Given the description of an element on the screen output the (x, y) to click on. 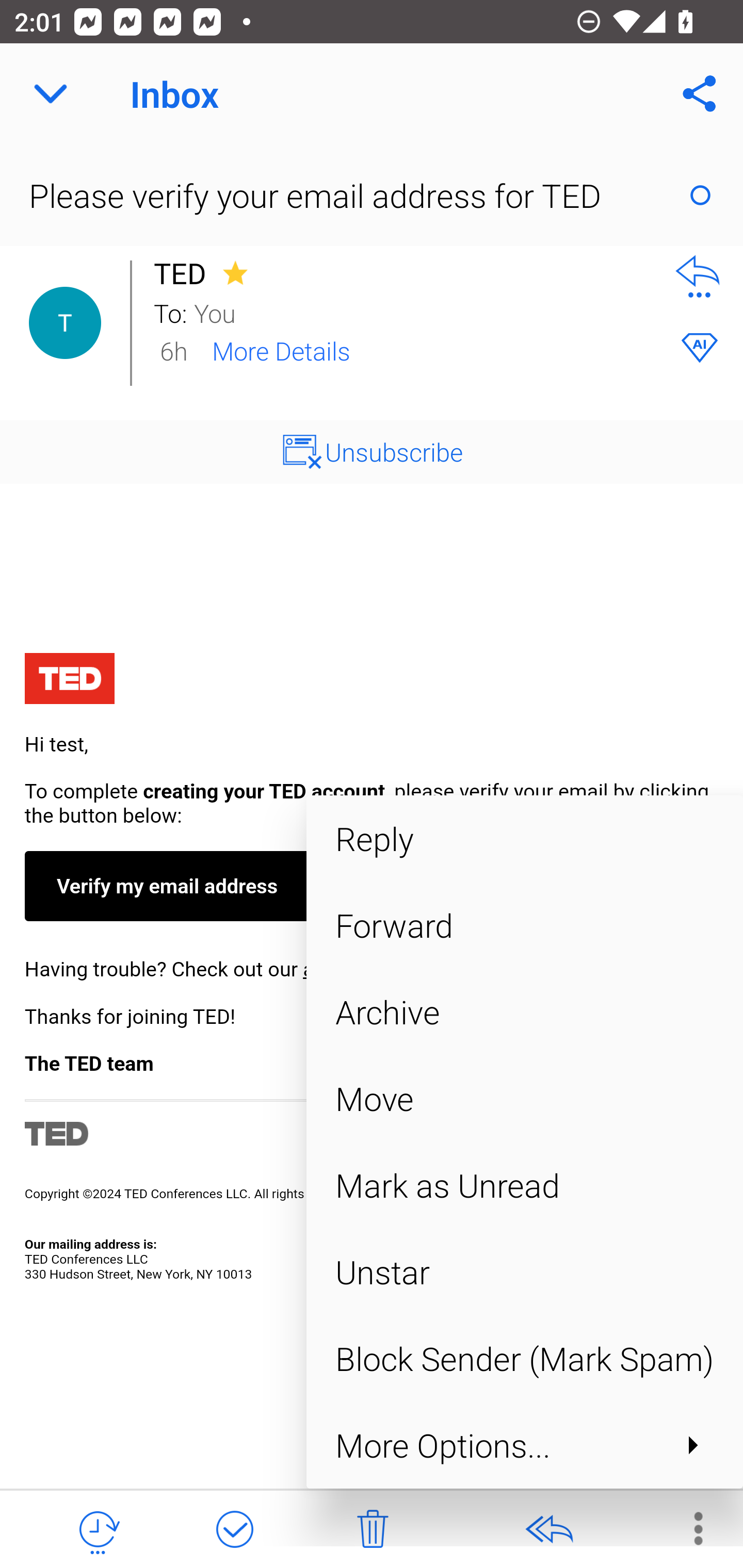
Reply (524, 837)
Forward (524, 925)
Archive (524, 1012)
Move (524, 1098)
Mark as Unread (524, 1185)
Unstar (524, 1272)
Block Sender (Mark Spam) (524, 1358)
More Options... (524, 1444)
